Given the description of an element on the screen output the (x, y) to click on. 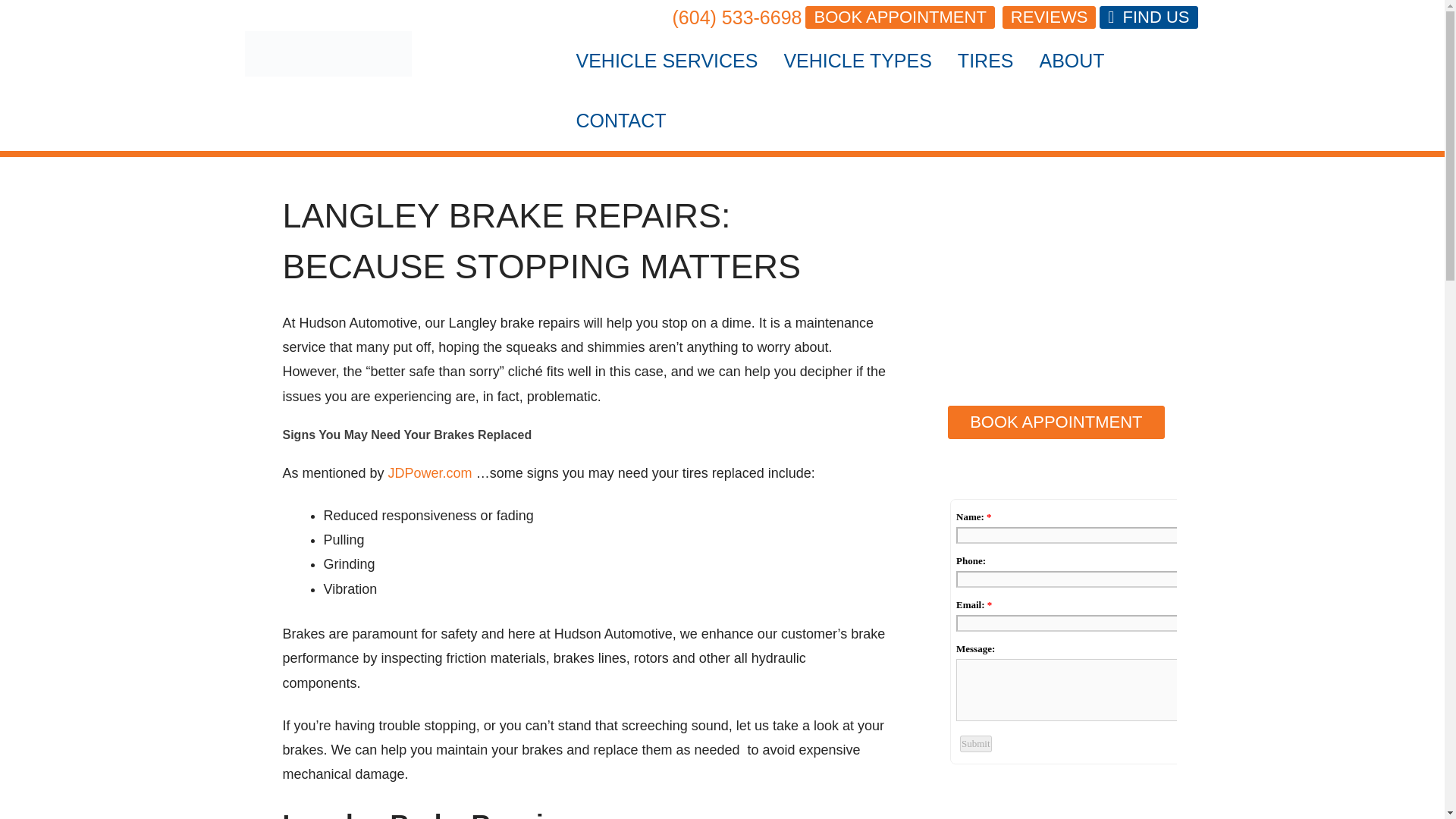
FIND US (1147, 16)
BOOK APPOINTMENT (899, 16)
REVIEWS (1049, 16)
VEHICLE SERVICES (667, 60)
REVIEWS (1048, 16)
VEHICLE TYPES (857, 60)
